Given the description of an element on the screen output the (x, y) to click on. 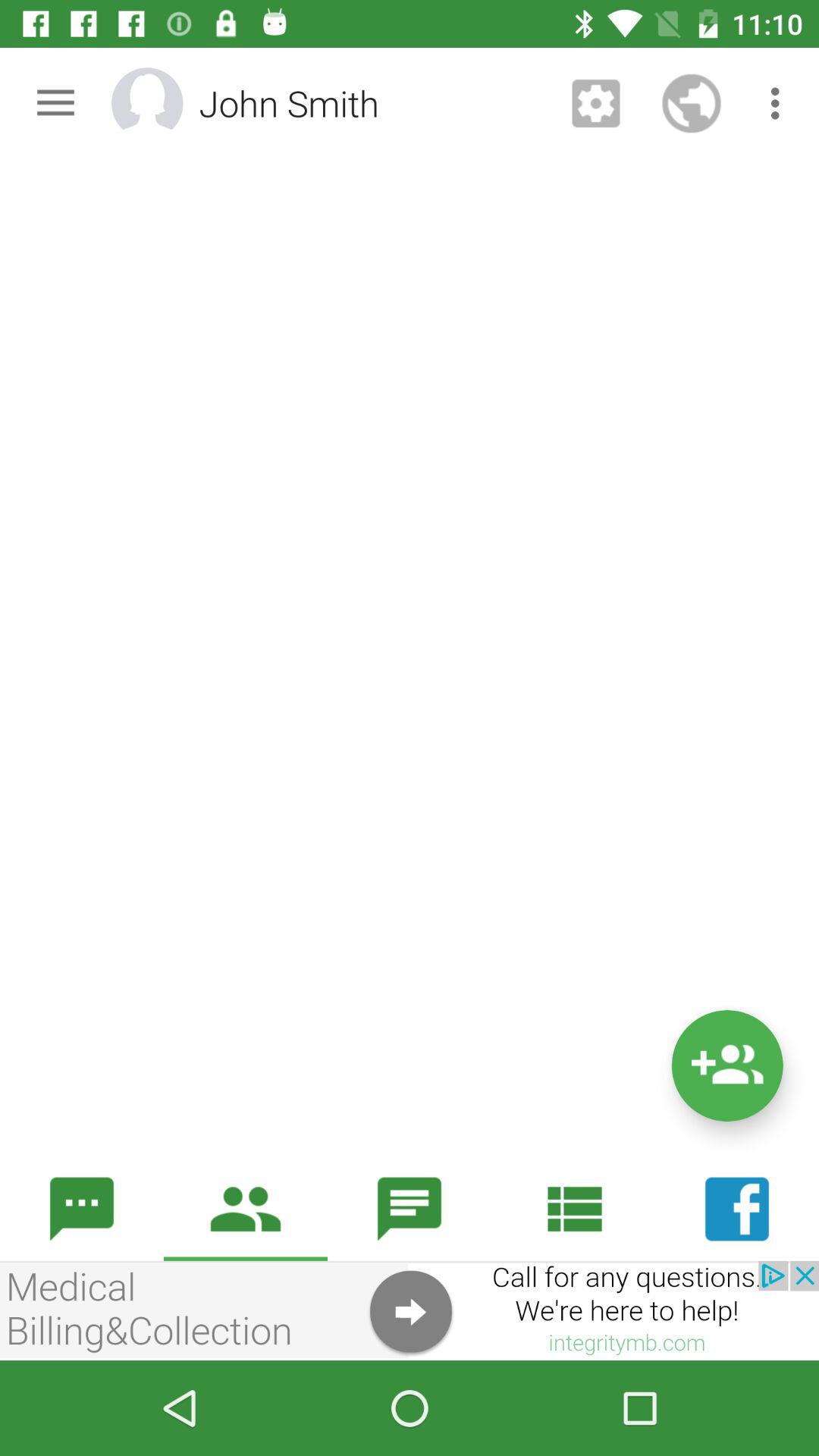
open advertisement page (409, 1310)
